Given the description of an element on the screen output the (x, y) to click on. 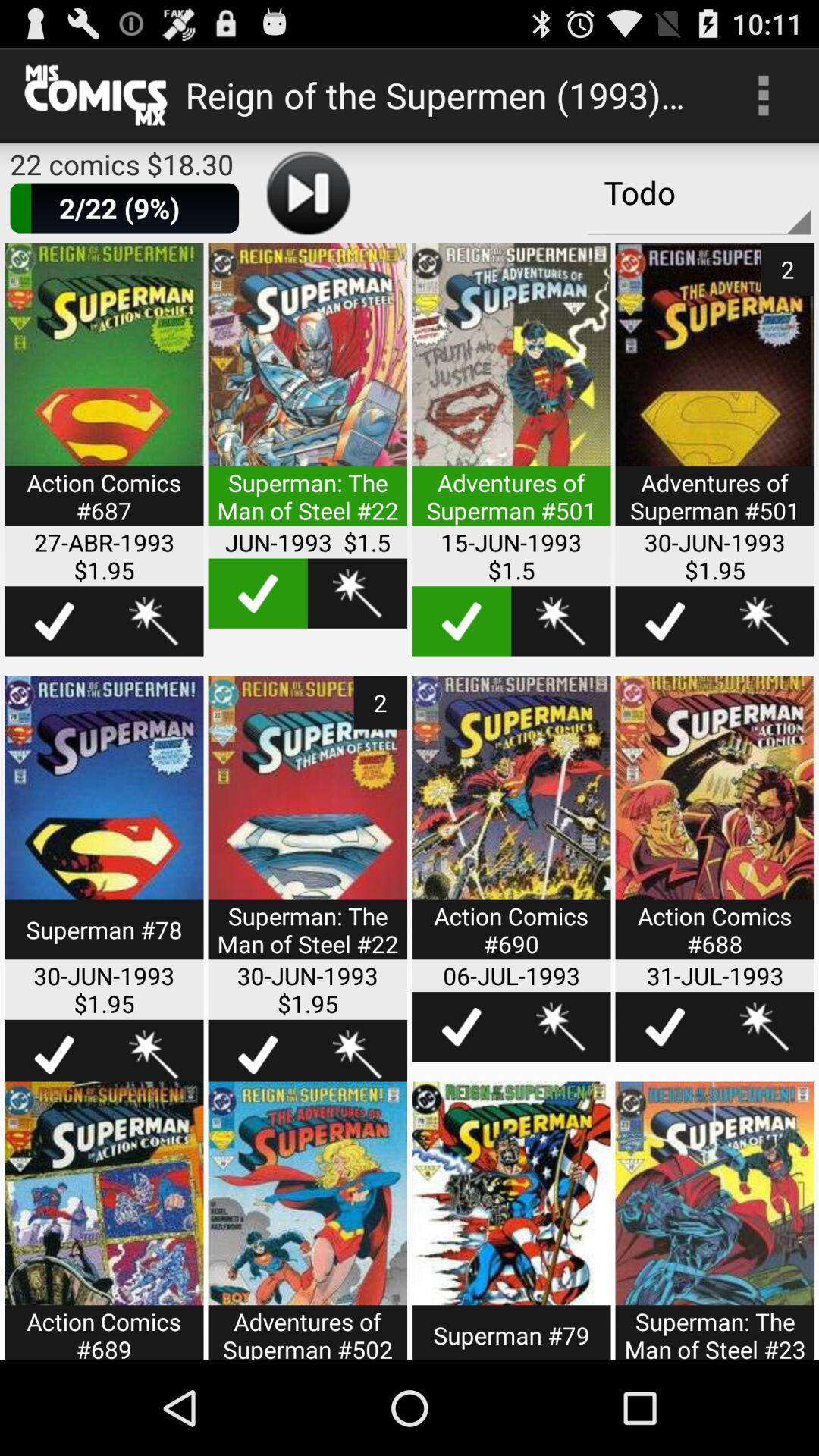
open up comic book (103, 393)
